Given the description of an element on the screen output the (x, y) to click on. 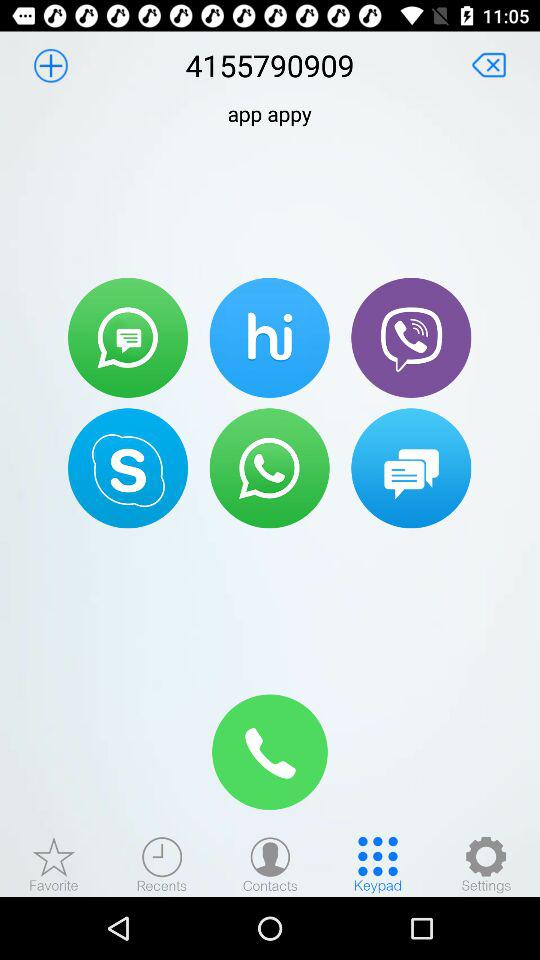
open hi (269, 337)
